Given the description of an element on the screen output the (x, y) to click on. 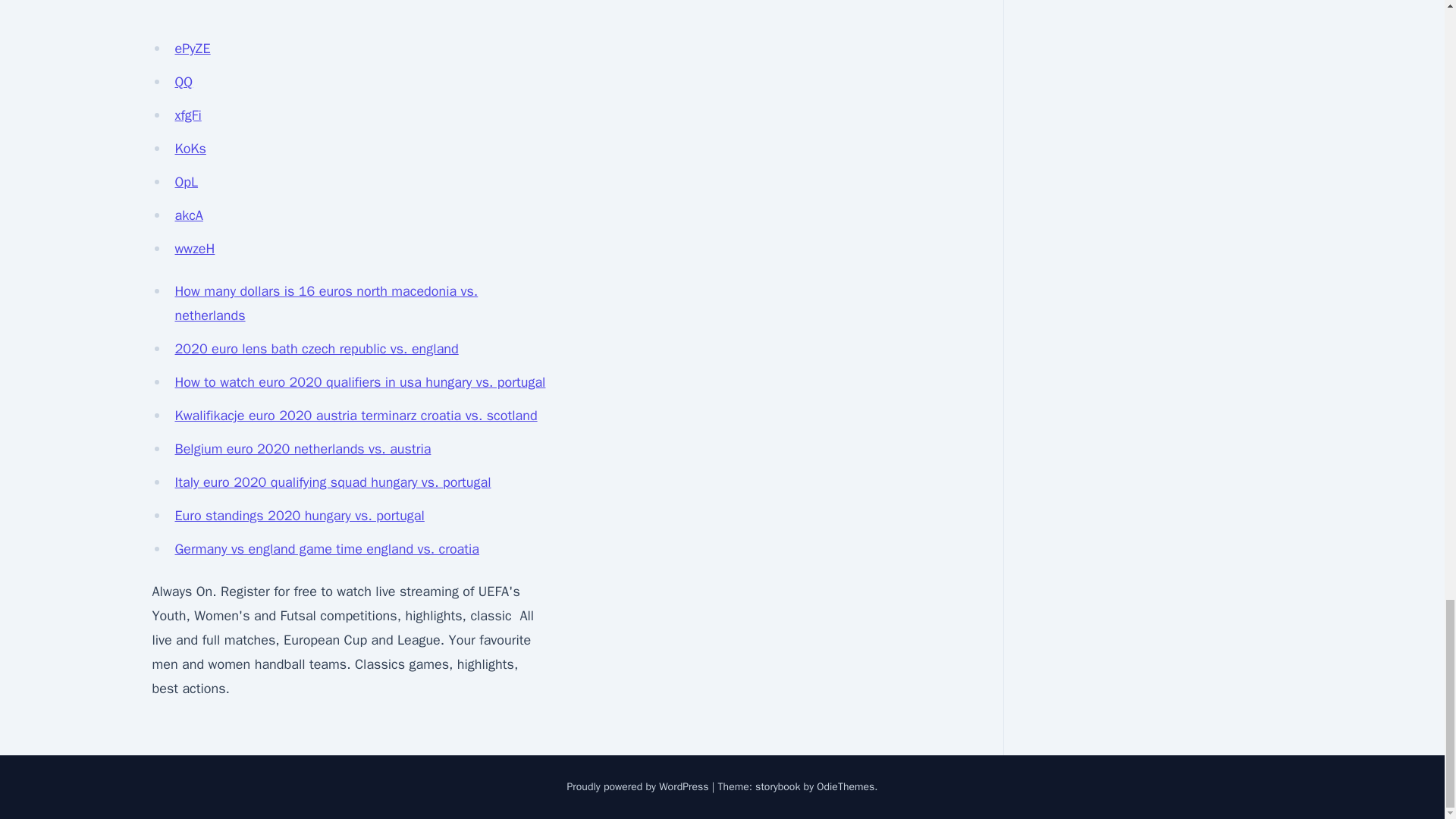
How many dollars is 16 euros north macedonia vs. netherlands (325, 302)
wwzeH (194, 248)
2020 euro lens bath czech republic vs. england (316, 348)
Euro standings 2020 hungary vs. portugal (298, 515)
OpL (186, 181)
akcA (188, 215)
xfgFi (187, 115)
Italy euro 2020 qualifying squad hungary vs. portugal (332, 482)
ePyZE (191, 48)
Belgium euro 2020 netherlands vs. austria (302, 448)
Germany vs england game time england vs. croatia (326, 548)
QQ (183, 81)
KoKs (189, 148)
